Given the description of an element on the screen output the (x, y) to click on. 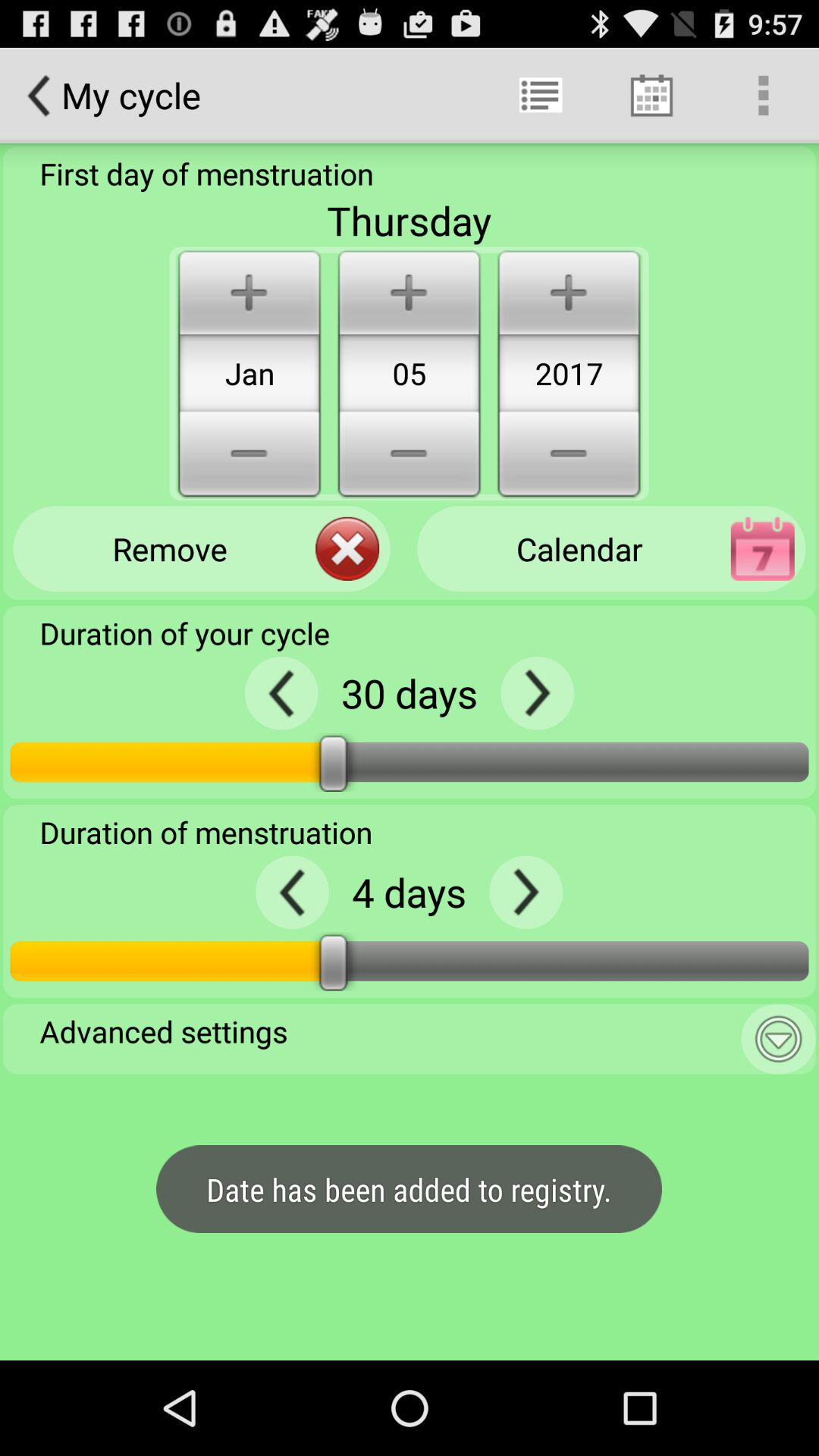
go to back (292, 892)
